Given the description of an element on the screen output the (x, y) to click on. 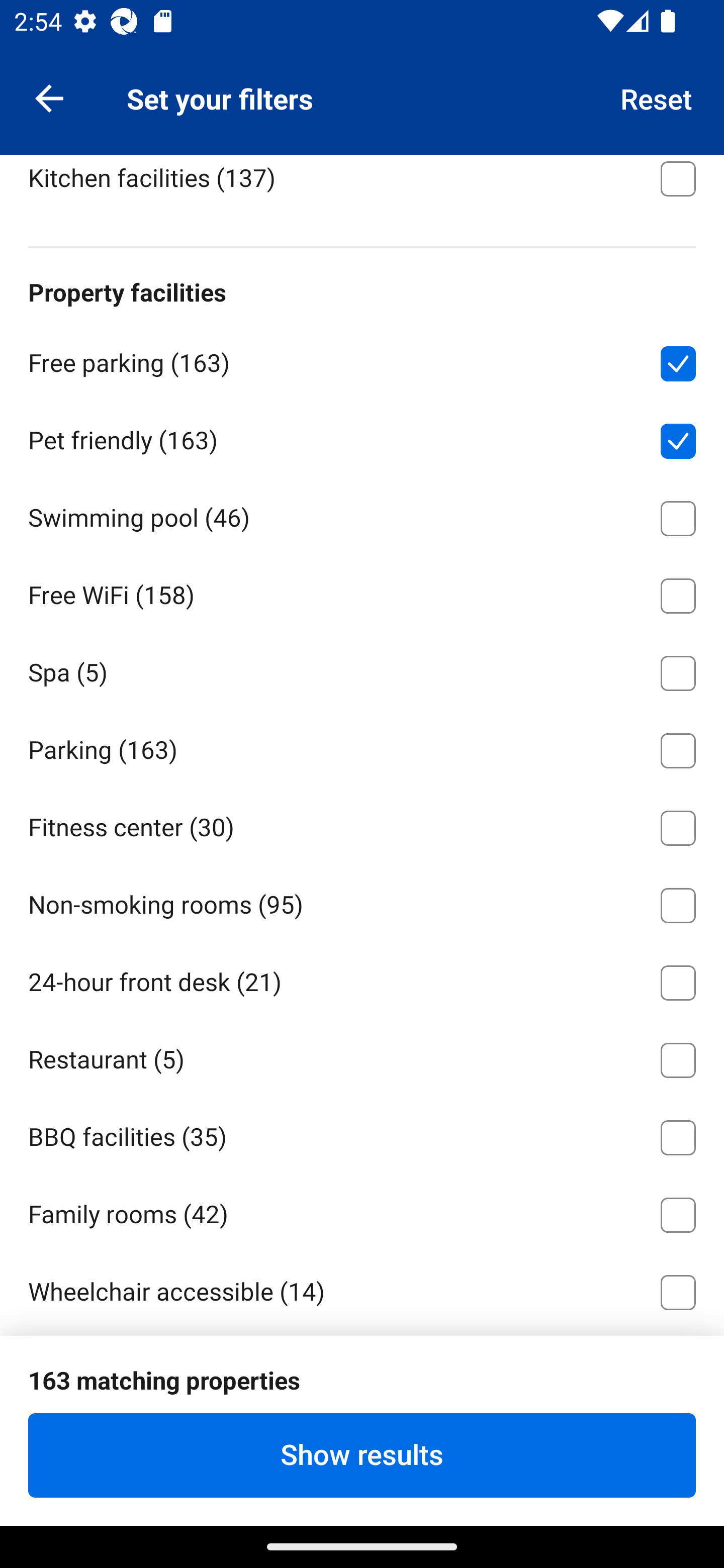
Navigate up (49, 97)
Breakfast Included ⁦(11) (361, 97)
Reset (656, 97)
Kitchen facilities ⁦(137) (361, 186)
Free parking ⁦(163) (361, 359)
Pet friendly ⁦(163) (361, 437)
Swimming pool ⁦(46) (361, 514)
Free WiFi ⁦(158) (361, 592)
Spa ⁦(5) (361, 669)
Parking ⁦(163) (361, 746)
Fitness center ⁦(30) (361, 824)
Non-smoking rooms ⁦(95) (361, 901)
24-hour front desk ⁦(21) (361, 978)
Restaurant ⁦(5) (361, 1056)
BBQ facilities ⁦(35) (361, 1134)
Family rooms ⁦(42) (361, 1210)
Wheelchair accessible ⁦(14) (361, 1288)
Show results (361, 1454)
